Given the description of an element on the screen output the (x, y) to click on. 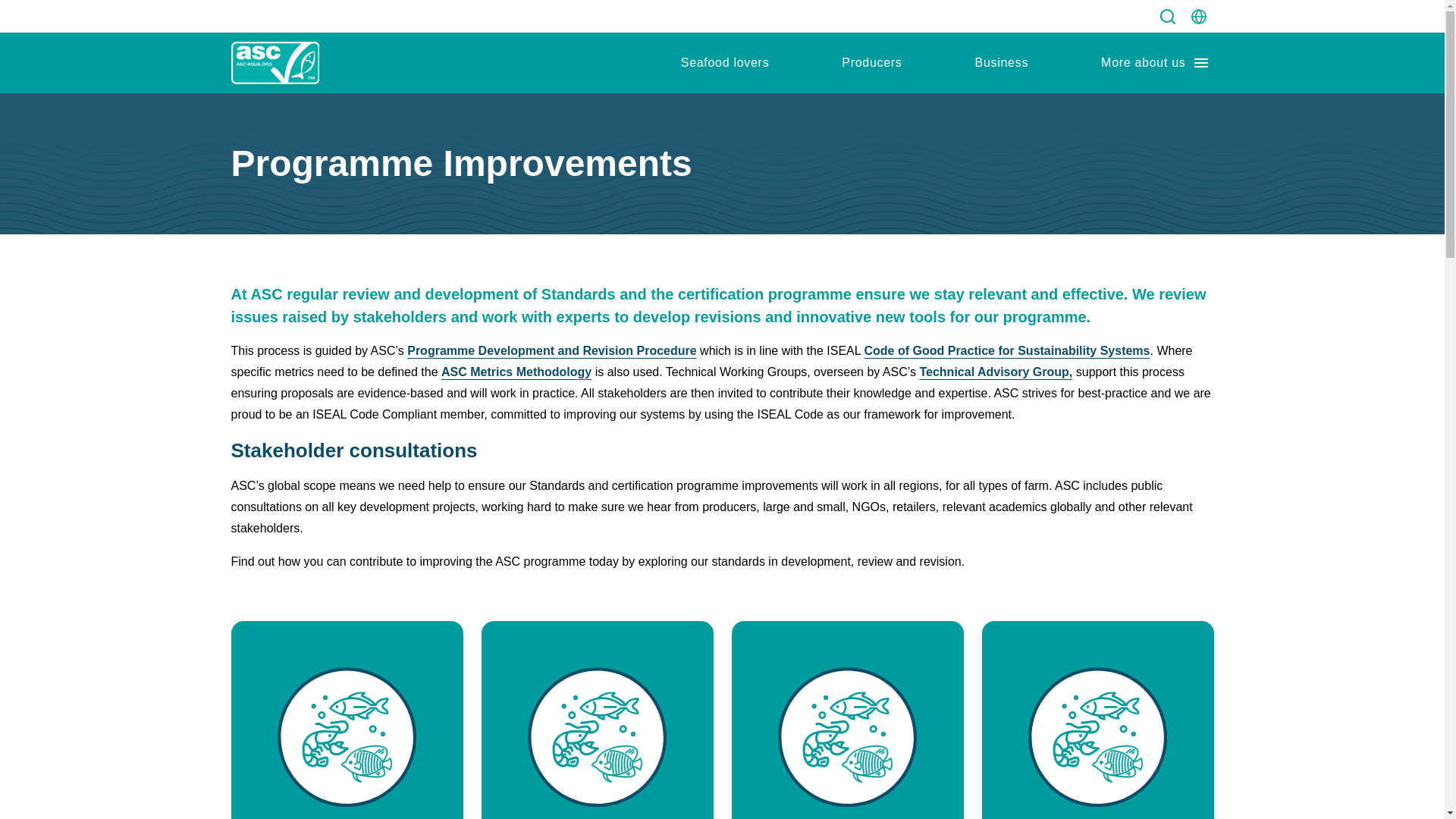
Seafood lovers (724, 62)
Producers (871, 62)
Business (1001, 62)
